Given the description of an element on the screen output the (x, y) to click on. 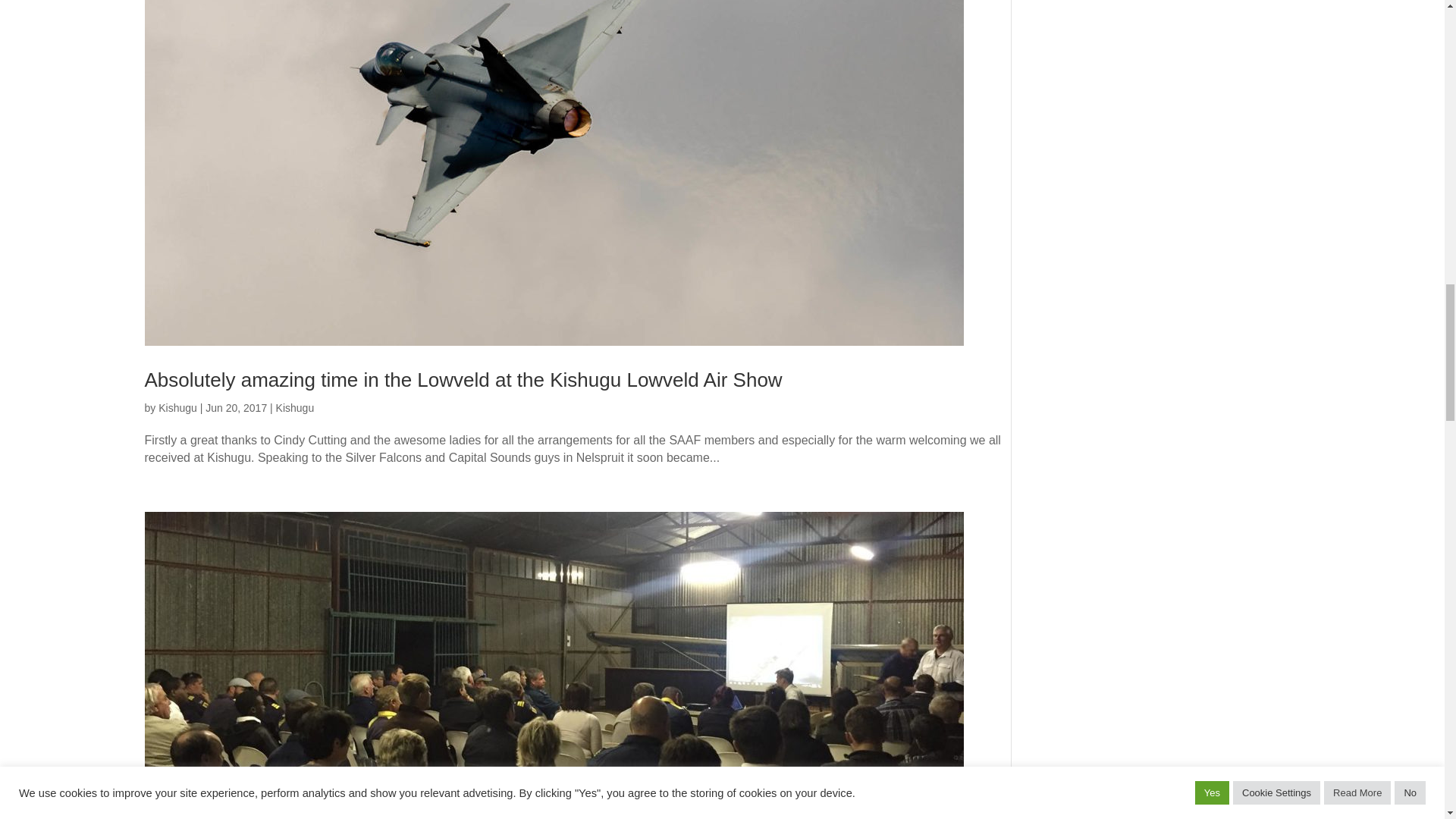
Posts by Kishugu (177, 408)
